Given the description of an element on the screen output the (x, y) to click on. 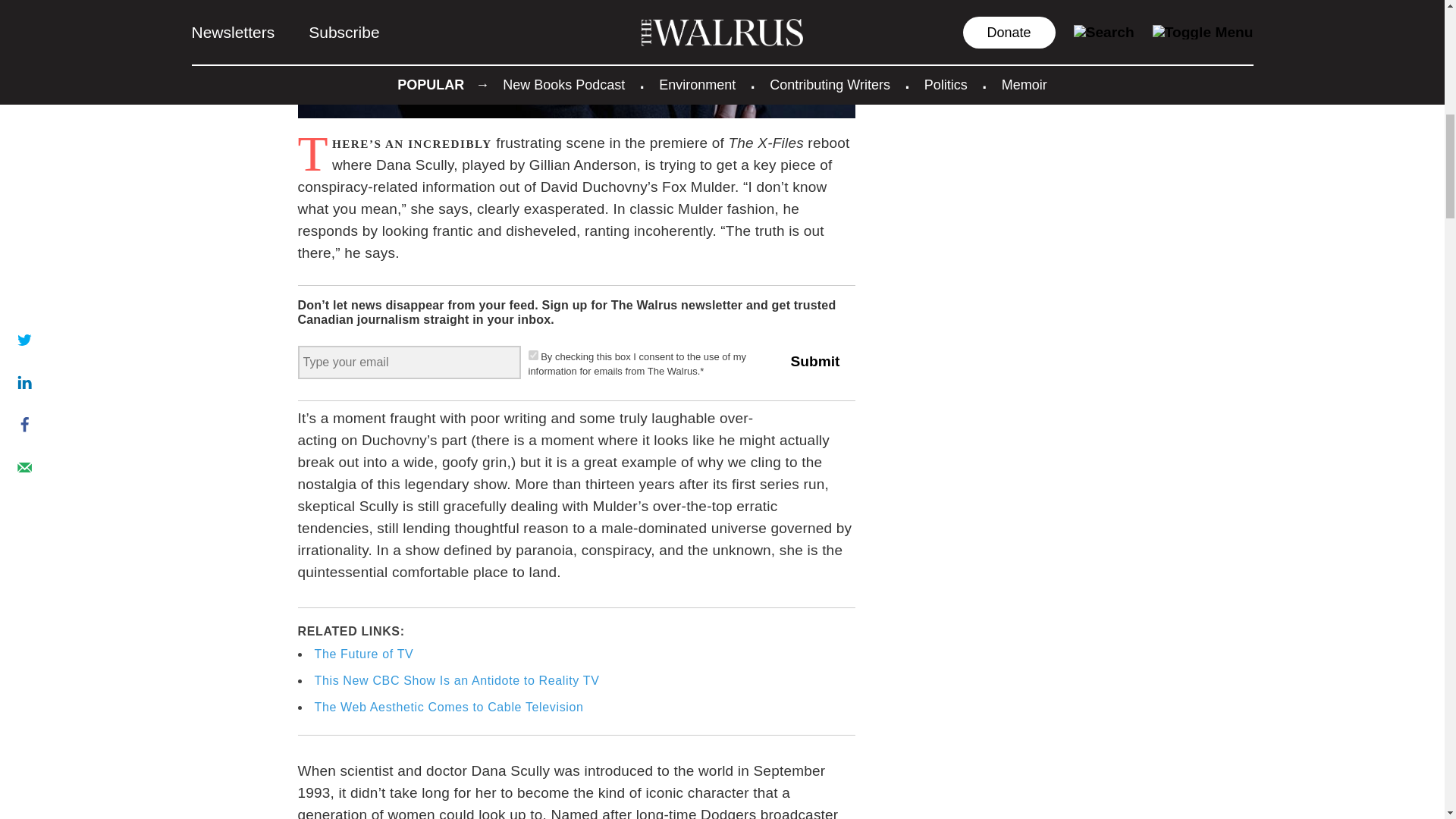
3rd party ad content (1015, 24)
3rd party ad content (1015, 166)
